Given the description of an element on the screen output the (x, y) to click on. 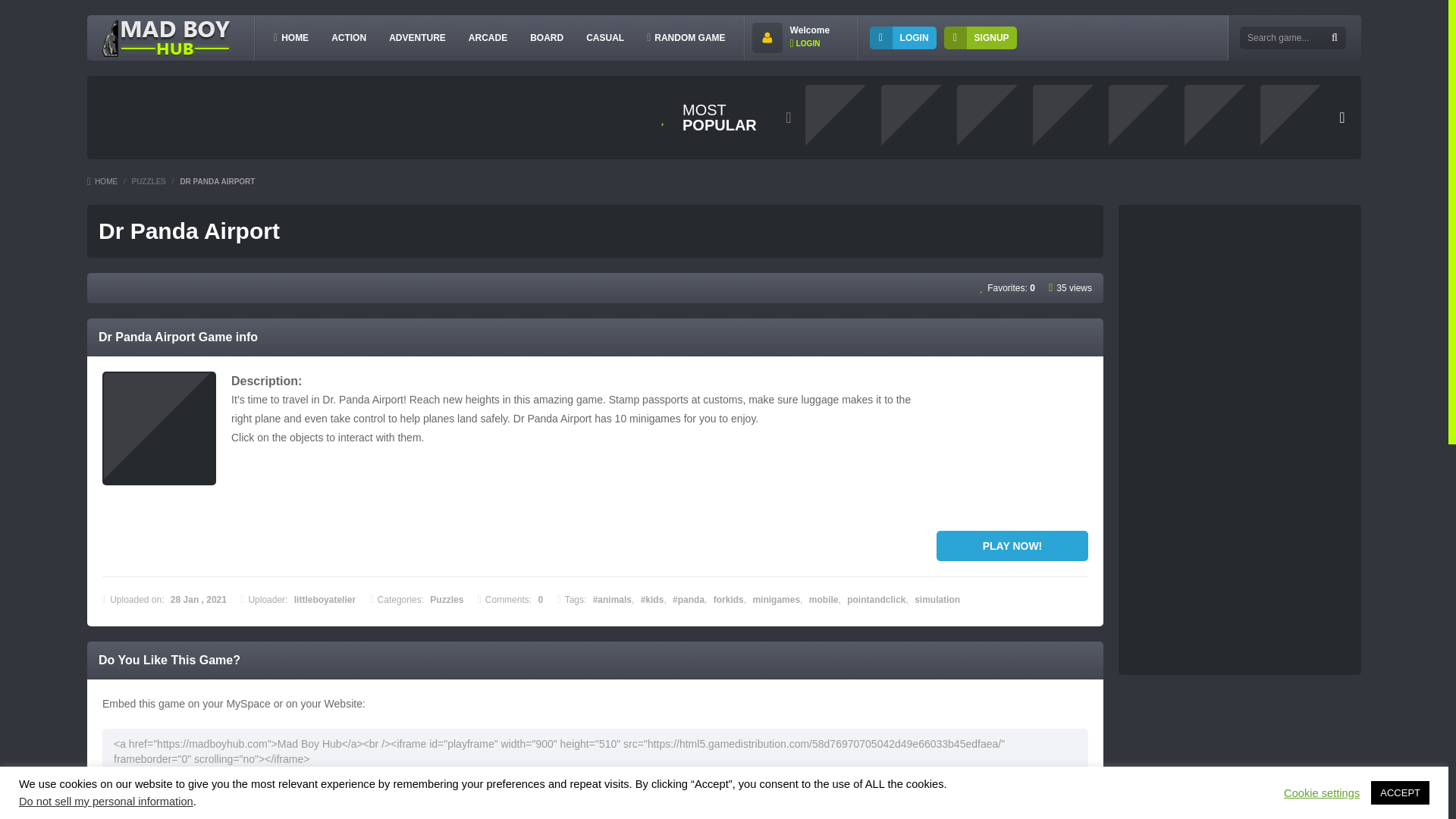
mobile (823, 599)
forkids (728, 599)
pointandclick (876, 599)
HOME (102, 181)
RANDOM GAME (685, 37)
ARCADE (488, 37)
LOGIN (805, 43)
Board Game (546, 37)
Casual (604, 37)
PLAY NOW! (1011, 545)
